Given the description of an element on the screen output the (x, y) to click on. 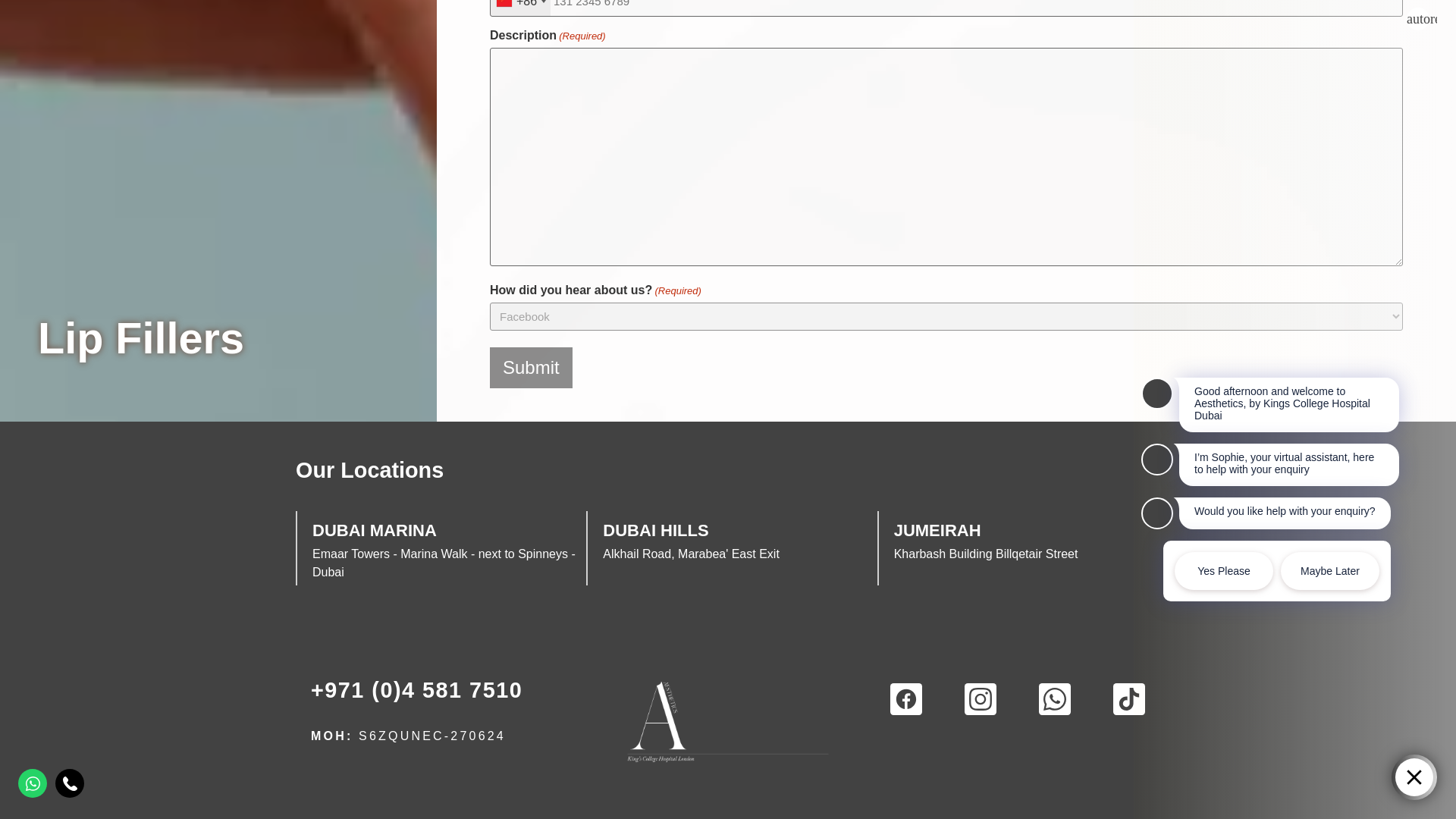
Submit (530, 367)
China (520, 8)
Submit (530, 367)
white-logo-mobile-compressed - Aesthetic Surgery Clinic (727, 720)
